Given the description of an element on the screen output the (x, y) to click on. 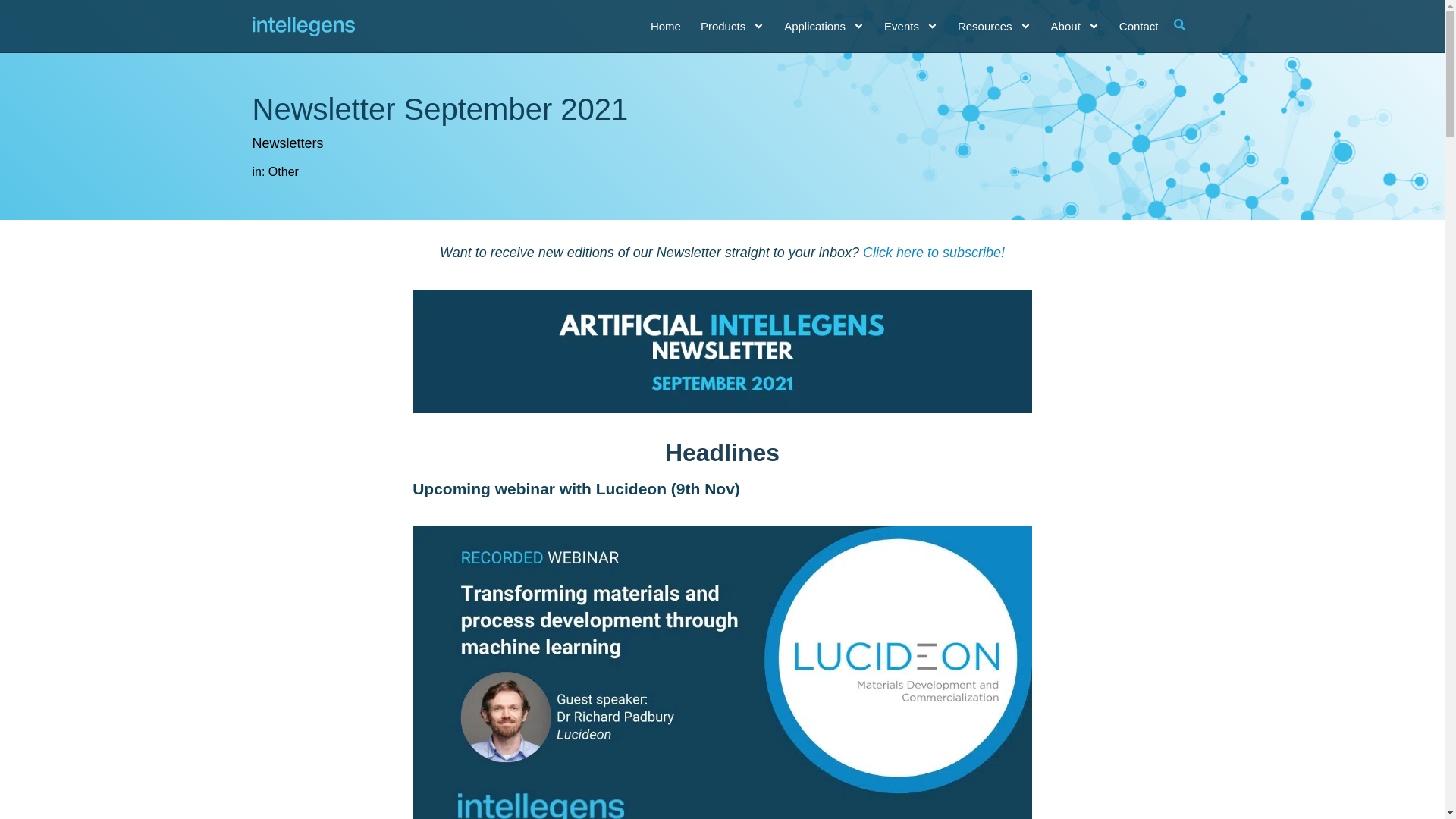
Resources (994, 26)
Recording of Lucideon webinar (722, 535)
Applications (824, 26)
Newsletter header Sep 2021 (722, 299)
Products (732, 26)
Contact (1138, 26)
About (1075, 26)
Events (910, 26)
